Given the description of an element on the screen output the (x, y) to click on. 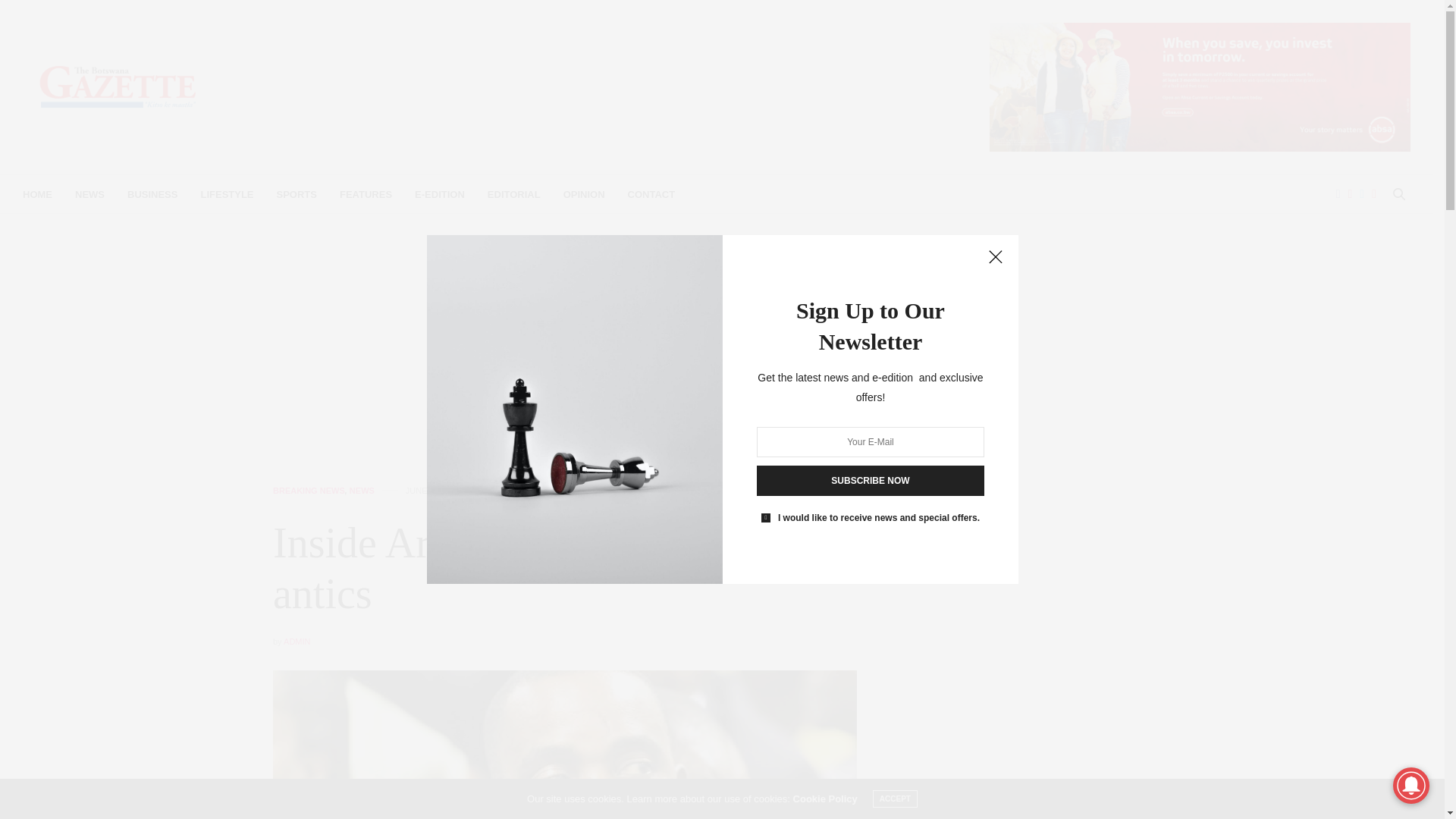
Posts by Admin (296, 641)
SPORTS (296, 193)
LIFESTYLE (226, 193)
BREAKING NEWS (309, 490)
OPINION (584, 193)
E-EDITION (439, 193)
CONTACT (651, 193)
BUSINESS (152, 193)
NEWS (361, 490)
FEATURES (365, 193)
EDITORIAL (513, 193)
Scroll To Top (1408, 782)
ADMIN (296, 641)
SUBSCRIBE NOW (870, 481)
